Given the description of an element on the screen output the (x, y) to click on. 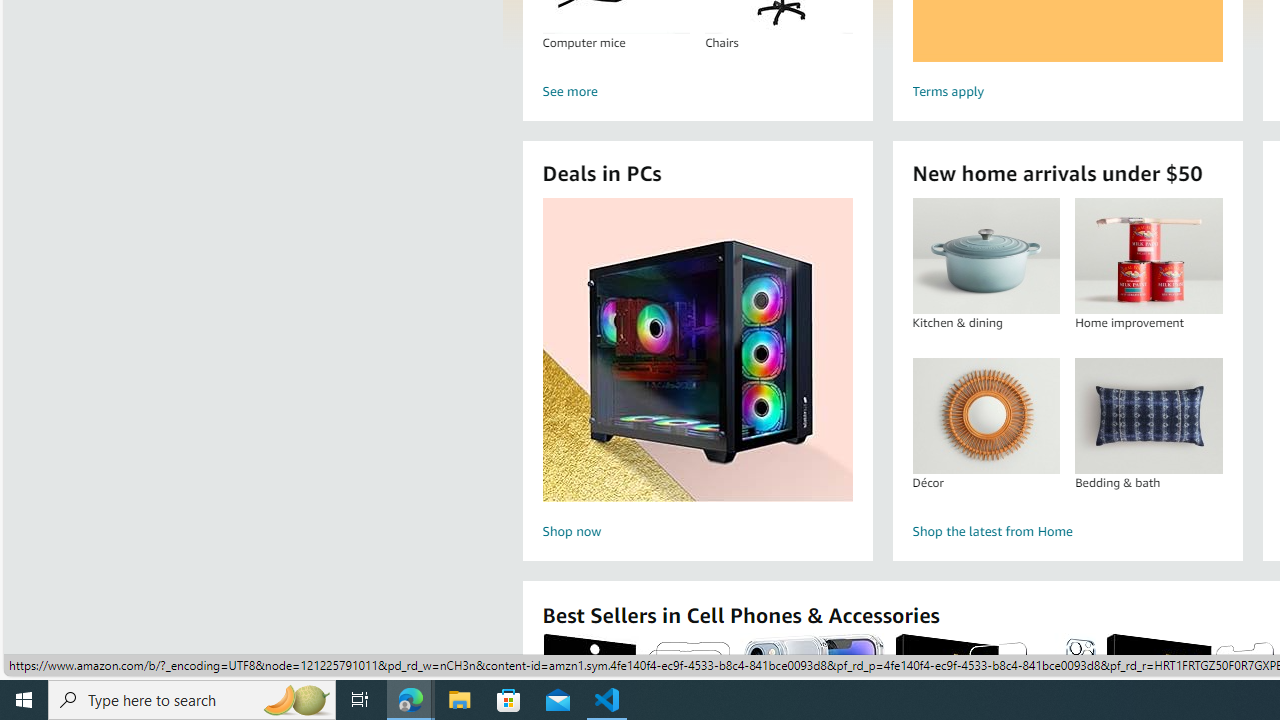
Deals in PCs (697, 349)
Bedding & bath (1148, 415)
Deals in PCs Shop now (697, 371)
Kitchen & dining (986, 256)
Bedding & bath (1148, 415)
Shop the latest from Home (1066, 532)
Home improvement (1148, 256)
Home improvement (1148, 256)
Kitchen & dining (985, 256)
